Given the description of an element on the screen output the (x, y) to click on. 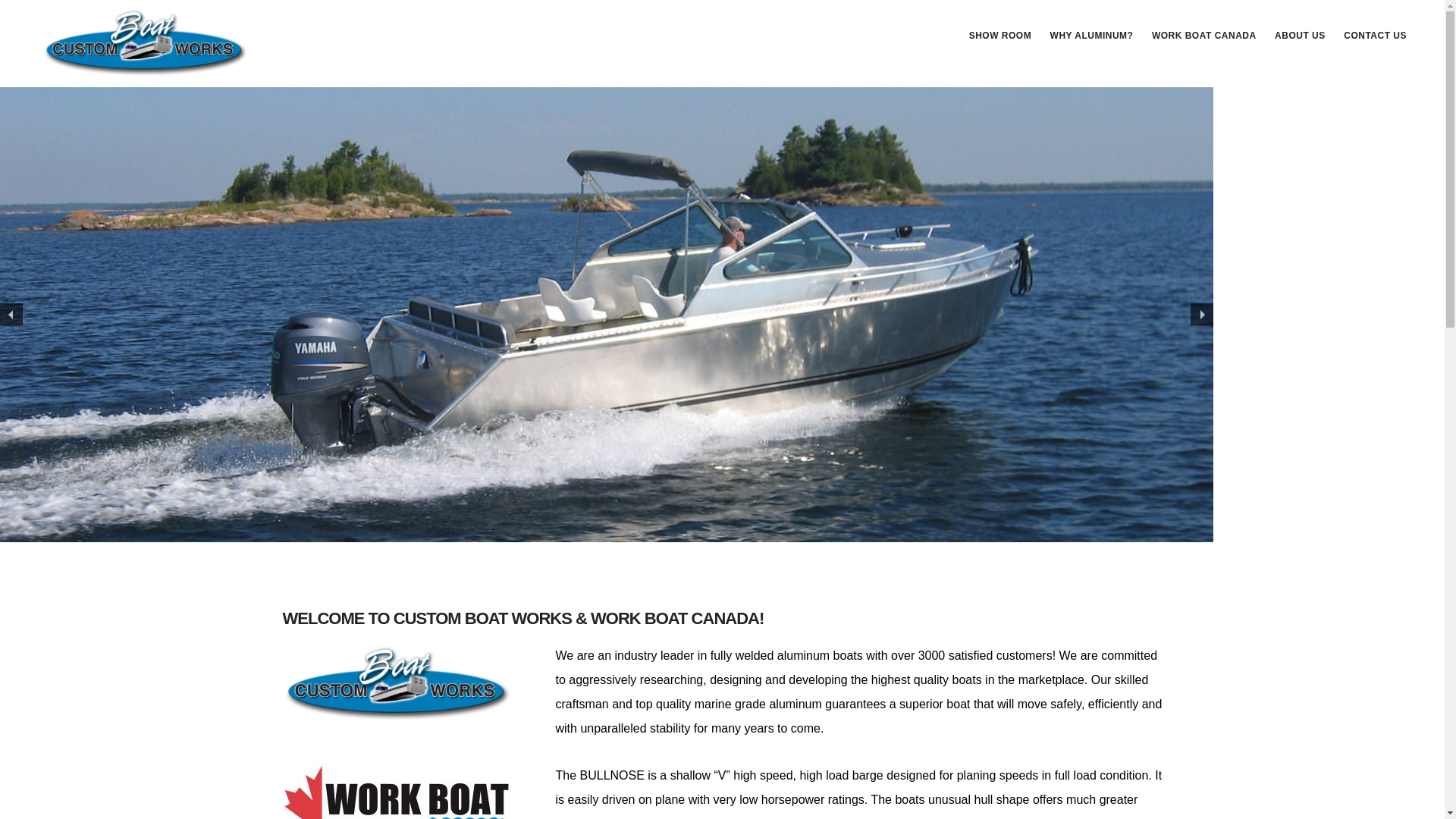
CONTACT US (1374, 35)
CUSTOM BOAT WORKS (143, 42)
WORK BOAT CANADA (1203, 35)
ABOUT US (1299, 35)
More information on Work Boat Canada (395, 791)
SHOW ROOM (999, 35)
WHY ALUMINUM? (1091, 35)
